Given the description of an element on the screen output the (x, y) to click on. 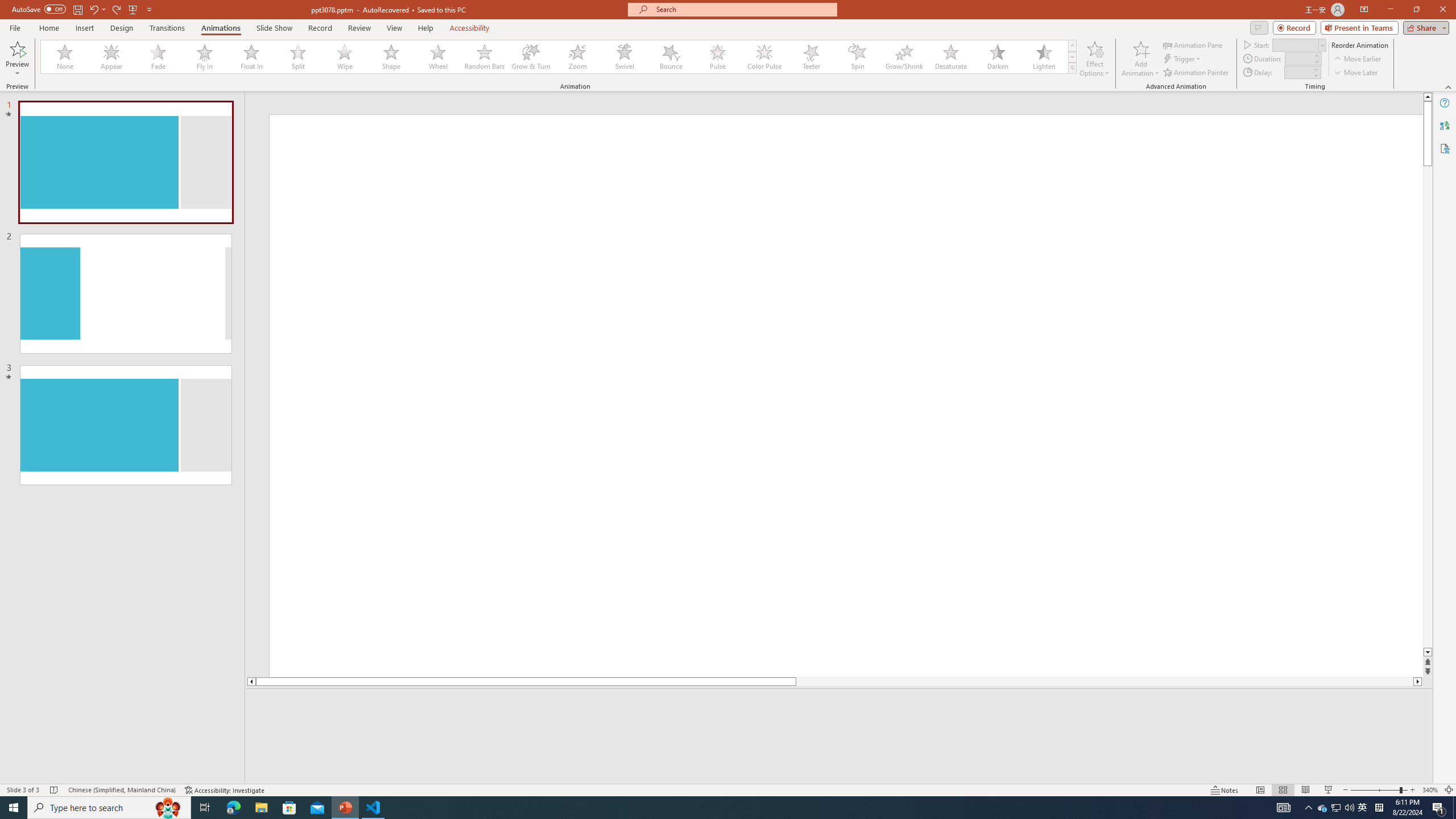
Class: MsoCommandBar (728, 789)
Darken (997, 56)
Grow/Shrink (903, 56)
Appear (111, 56)
Fly In (205, 56)
